Given the description of an element on the screen output the (x, y) to click on. 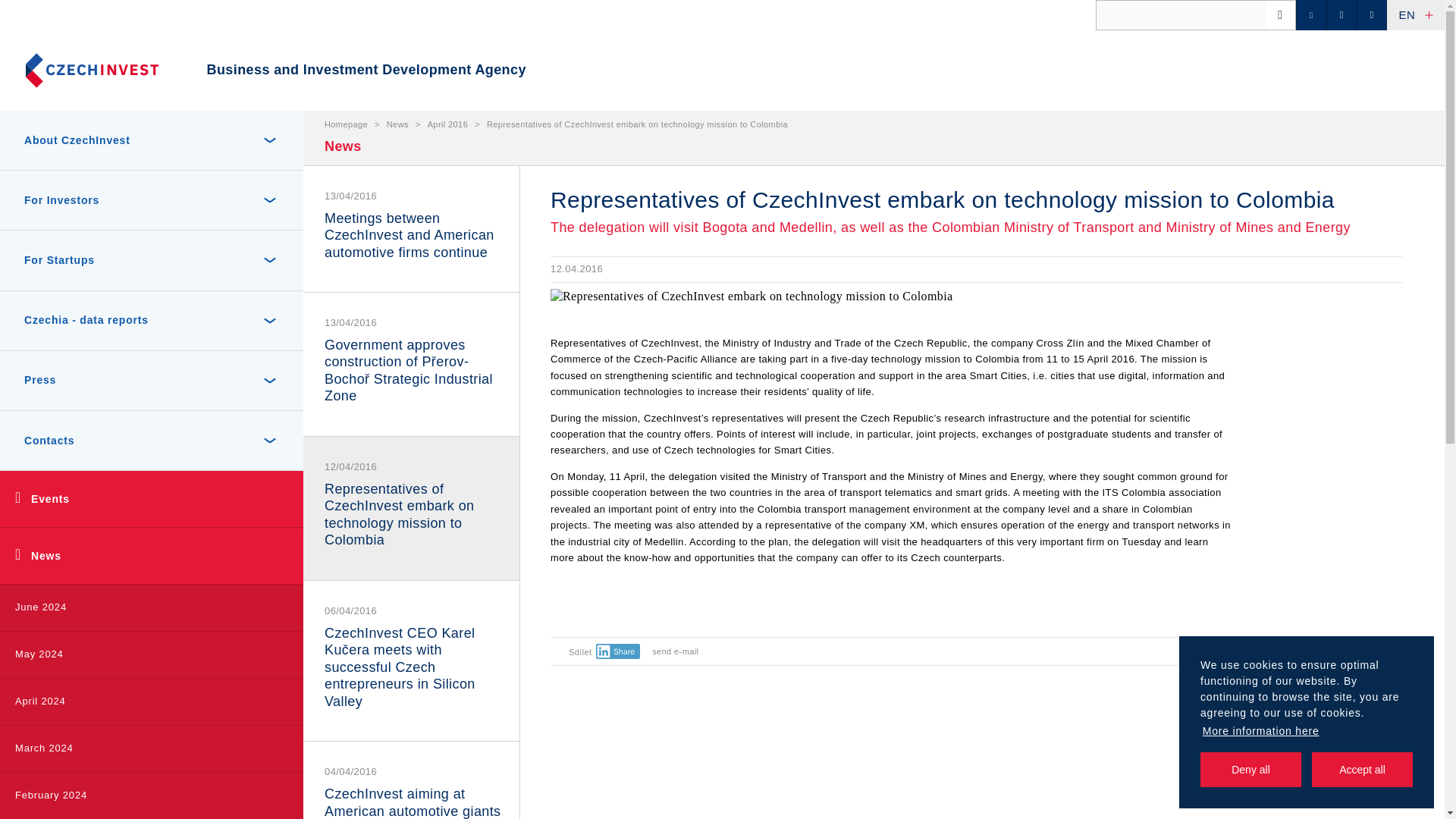
Deny all (1250, 769)
Accept all (1361, 769)
Search (39, 18)
